Given the description of an element on the screen output the (x, y) to click on. 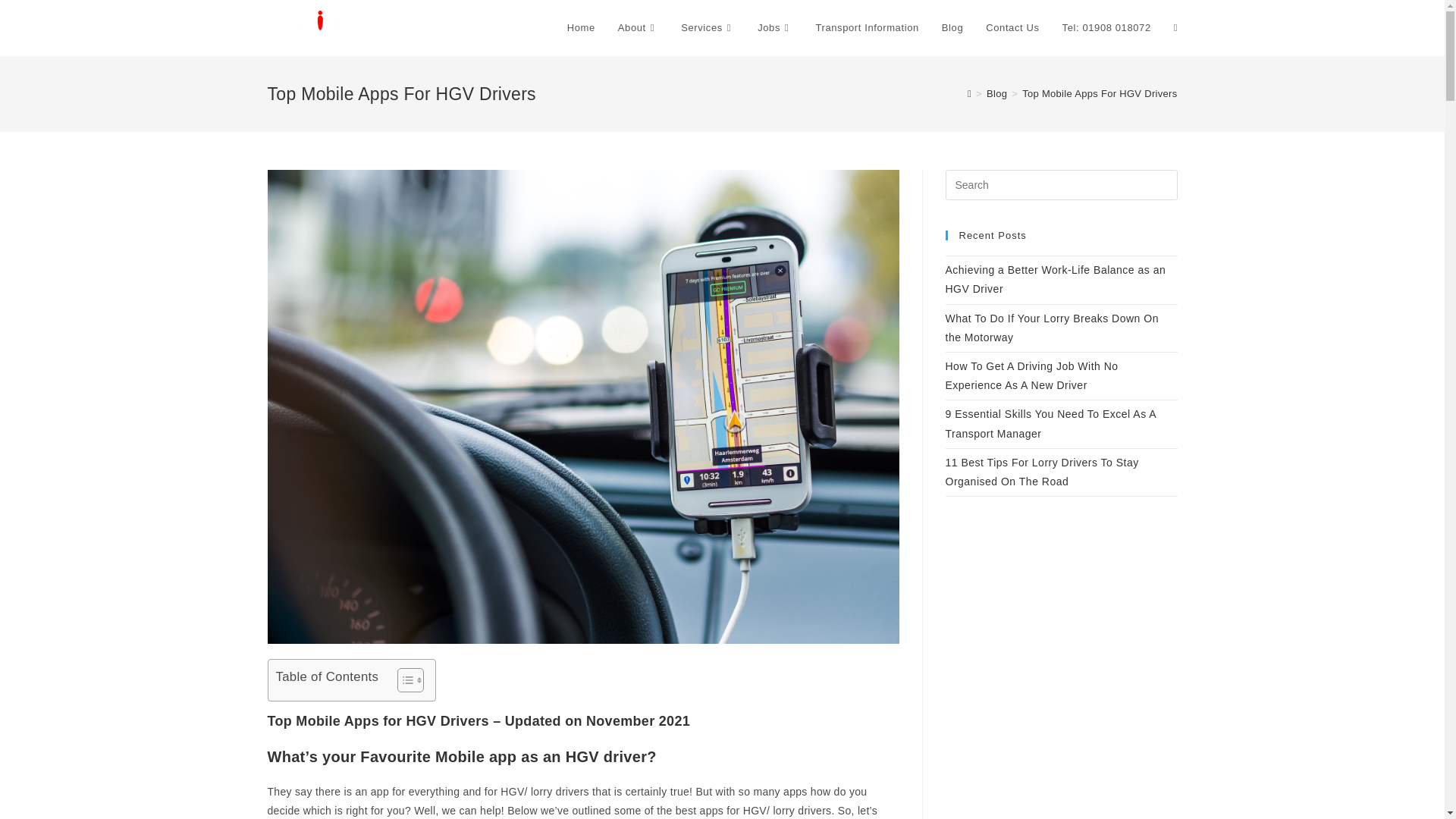
Home (581, 28)
Transport Information (866, 28)
Contact Us (1011, 28)
Top Mobile Apps For HGV Drivers (1099, 93)
About (638, 28)
Blog (997, 93)
Tel: 01908 018072 (1106, 28)
Jobs (774, 28)
Services (707, 28)
